Given the description of an element on the screen output the (x, y) to click on. 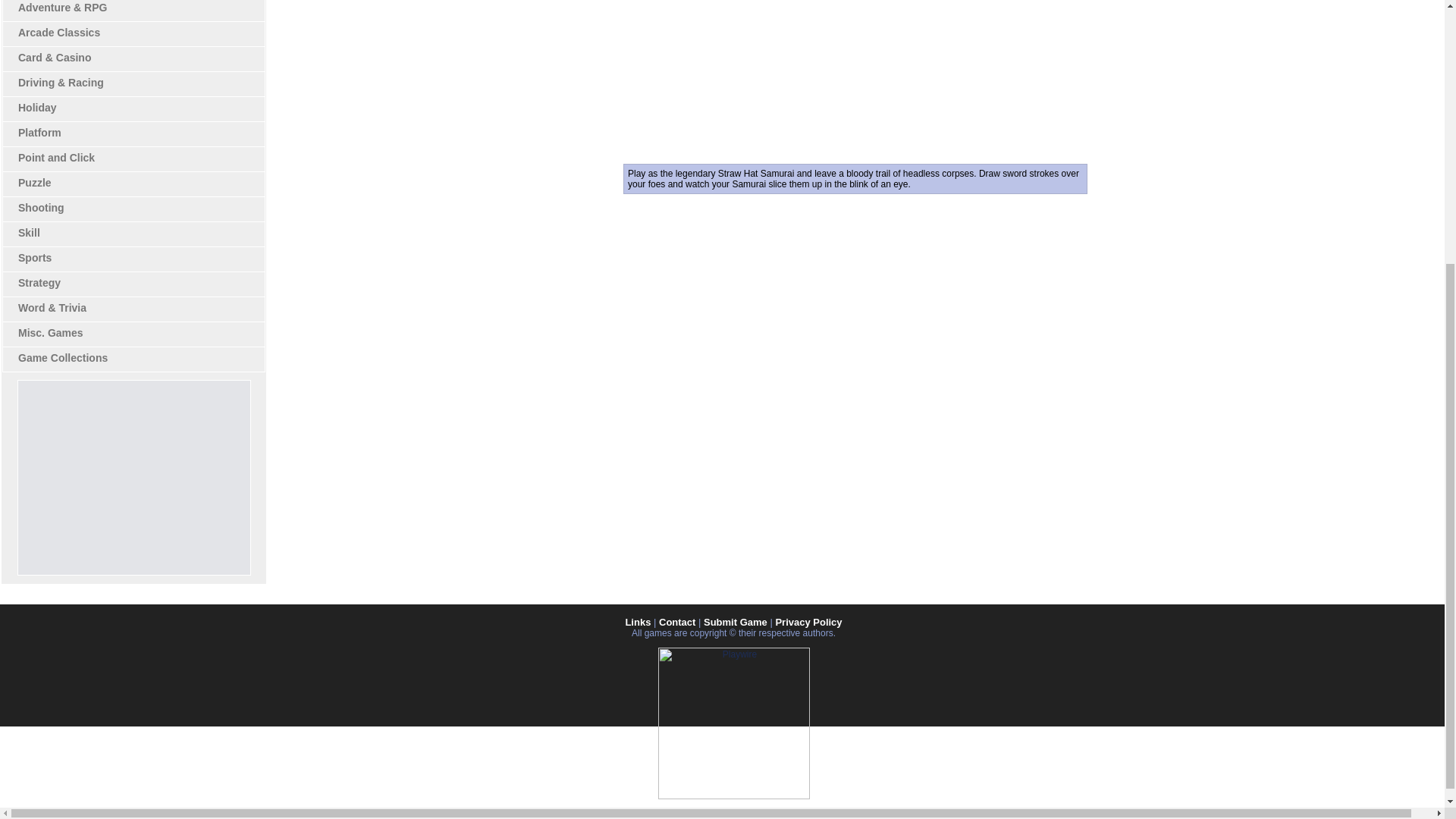
Platform (39, 132)
Misc. Games (49, 332)
Shooting (40, 207)
Puzzle (33, 182)
Strategy (39, 282)
Links (637, 622)
Sports (33, 257)
Skill (28, 232)
Holiday (36, 107)
Privacy Policy (807, 622)
